Given the description of an element on the screen output the (x, y) to click on. 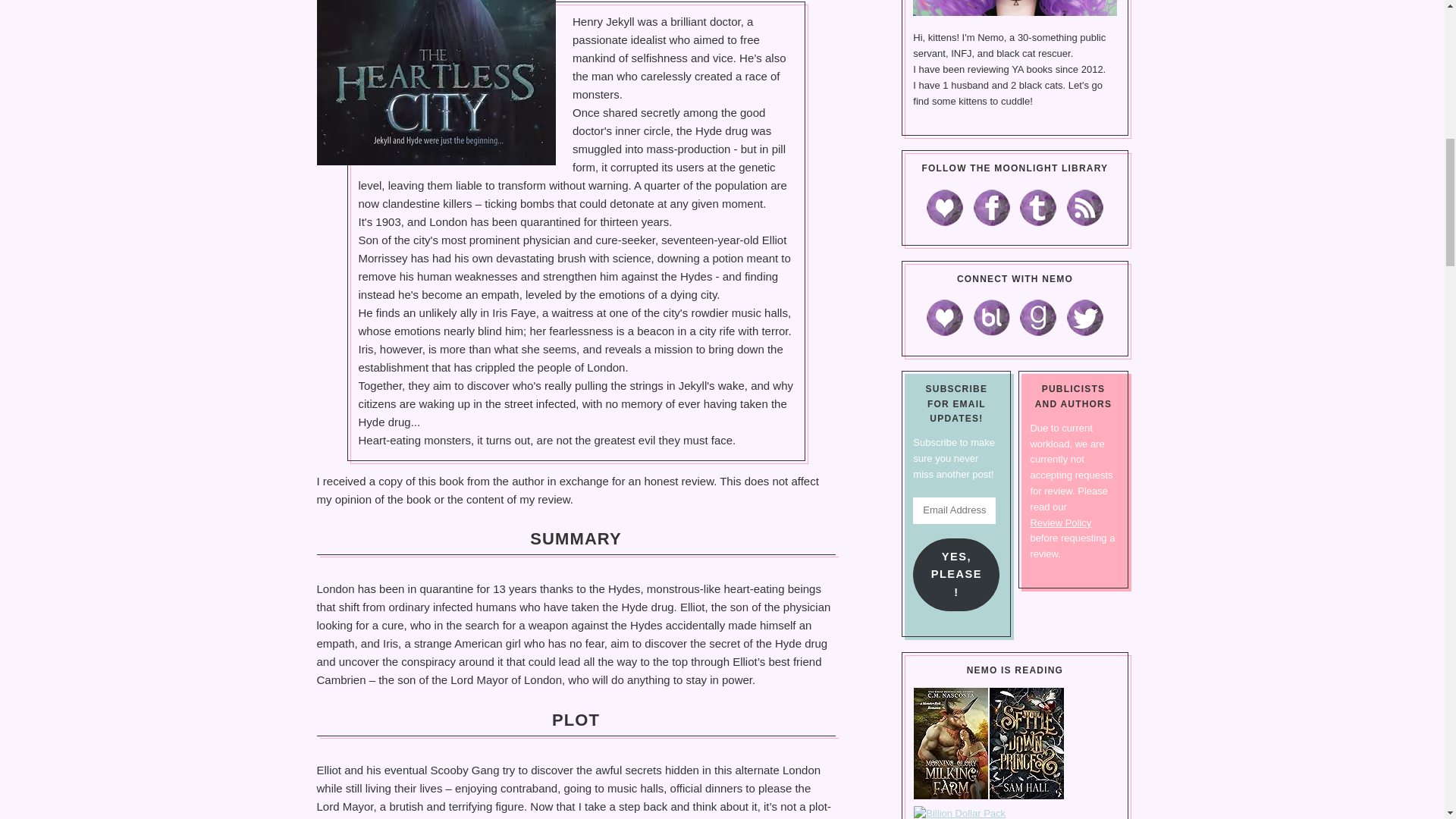
Mysteries And Conspiracies in the Heartless City of London (436, 82)
Welcome! (1014, 7)
Sign up! (1361, 191)
